Given the description of an element on the screen output the (x, y) to click on. 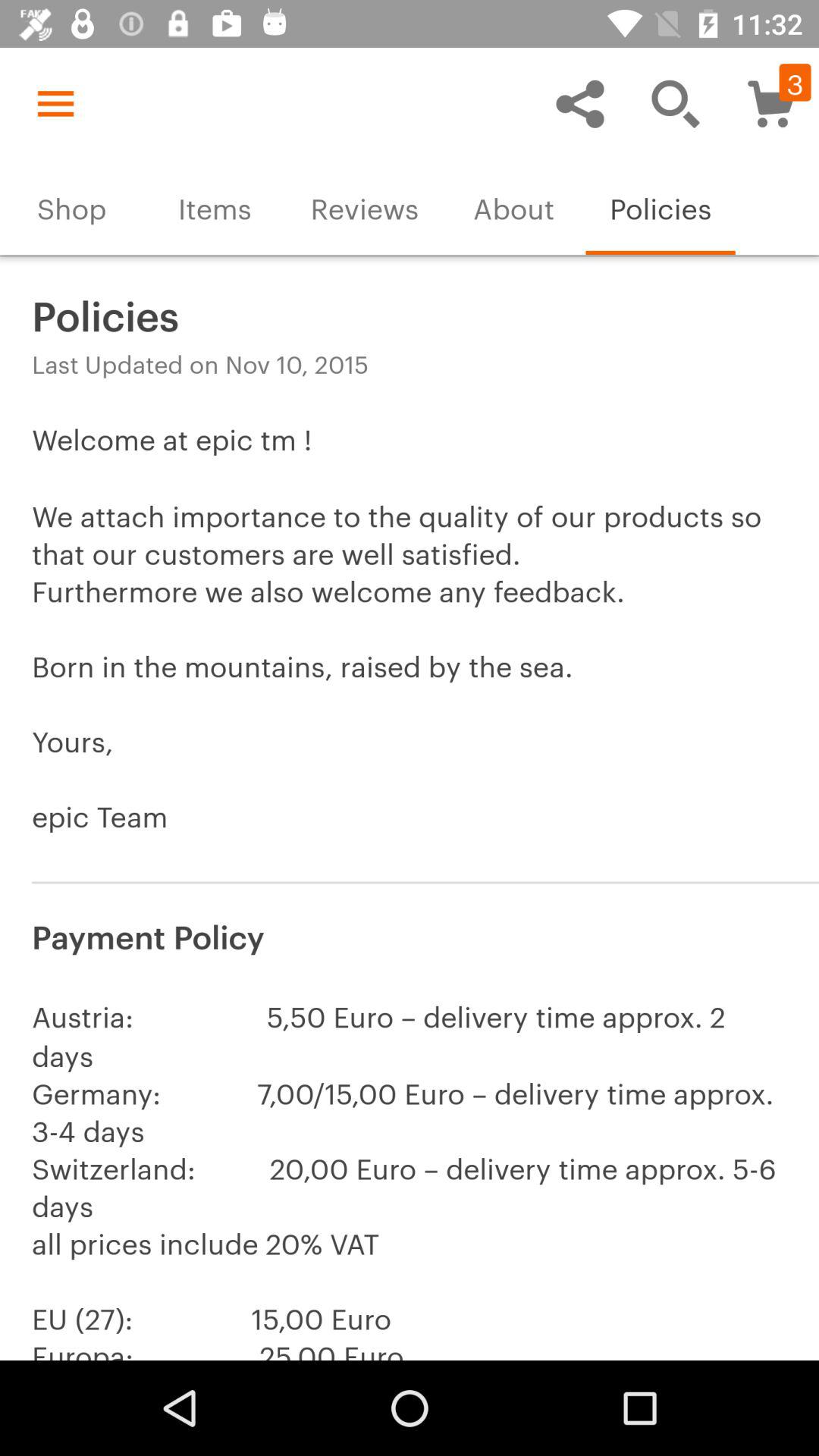
press the payment policy item (409, 934)
